Given the description of an element on the screen output the (x, y) to click on. 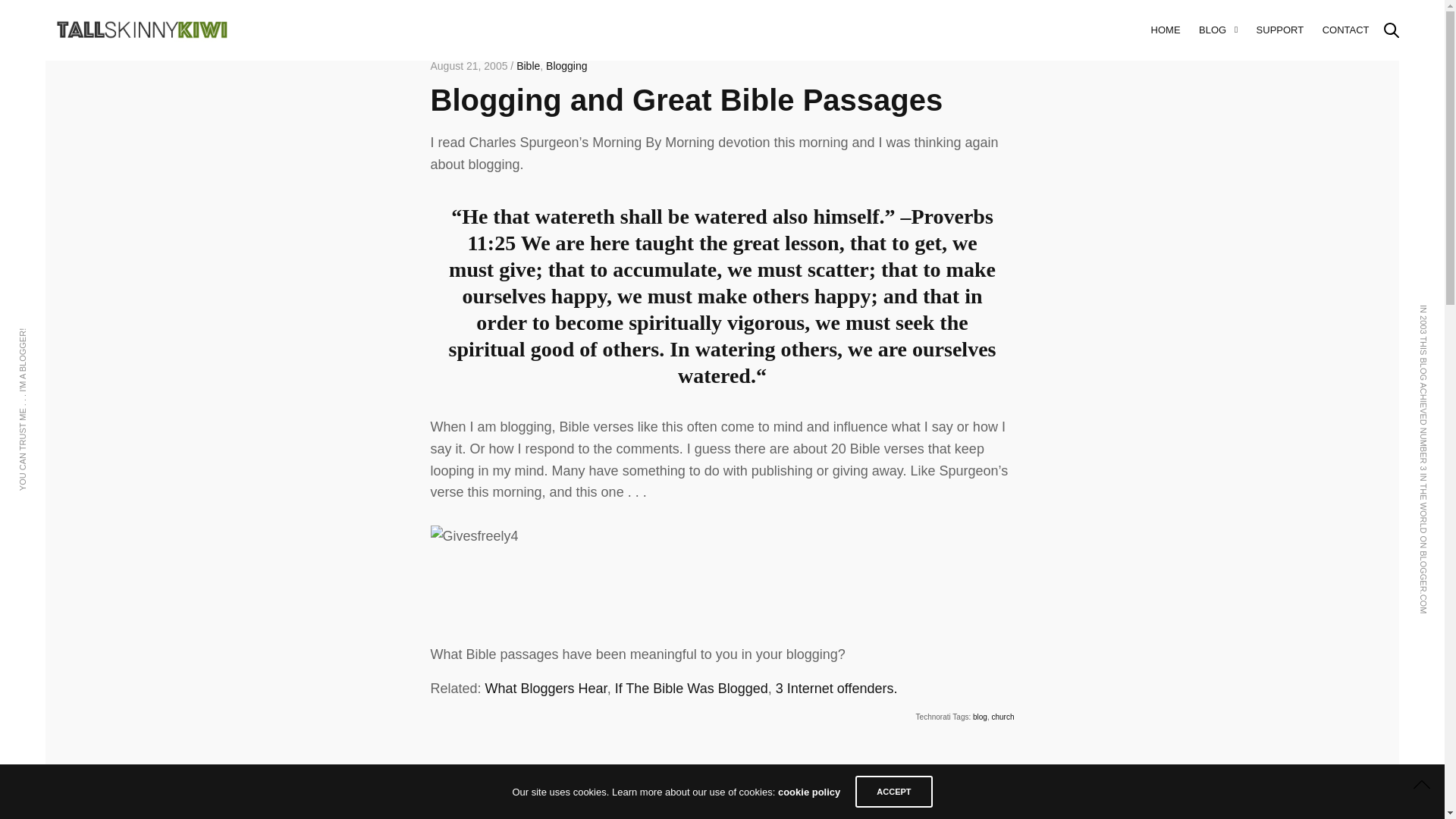
Blogging (567, 65)
If The Bible Was Blogged (691, 688)
BLOG (1217, 29)
SUPPORT (1280, 29)
church (1002, 716)
blog (979, 716)
CONTACT (1346, 29)
Bible (528, 65)
3 Internet offenders. (837, 688)
What Bloggers Hear (545, 688)
HOME (1165, 29)
